Given the description of an element on the screen output the (x, y) to click on. 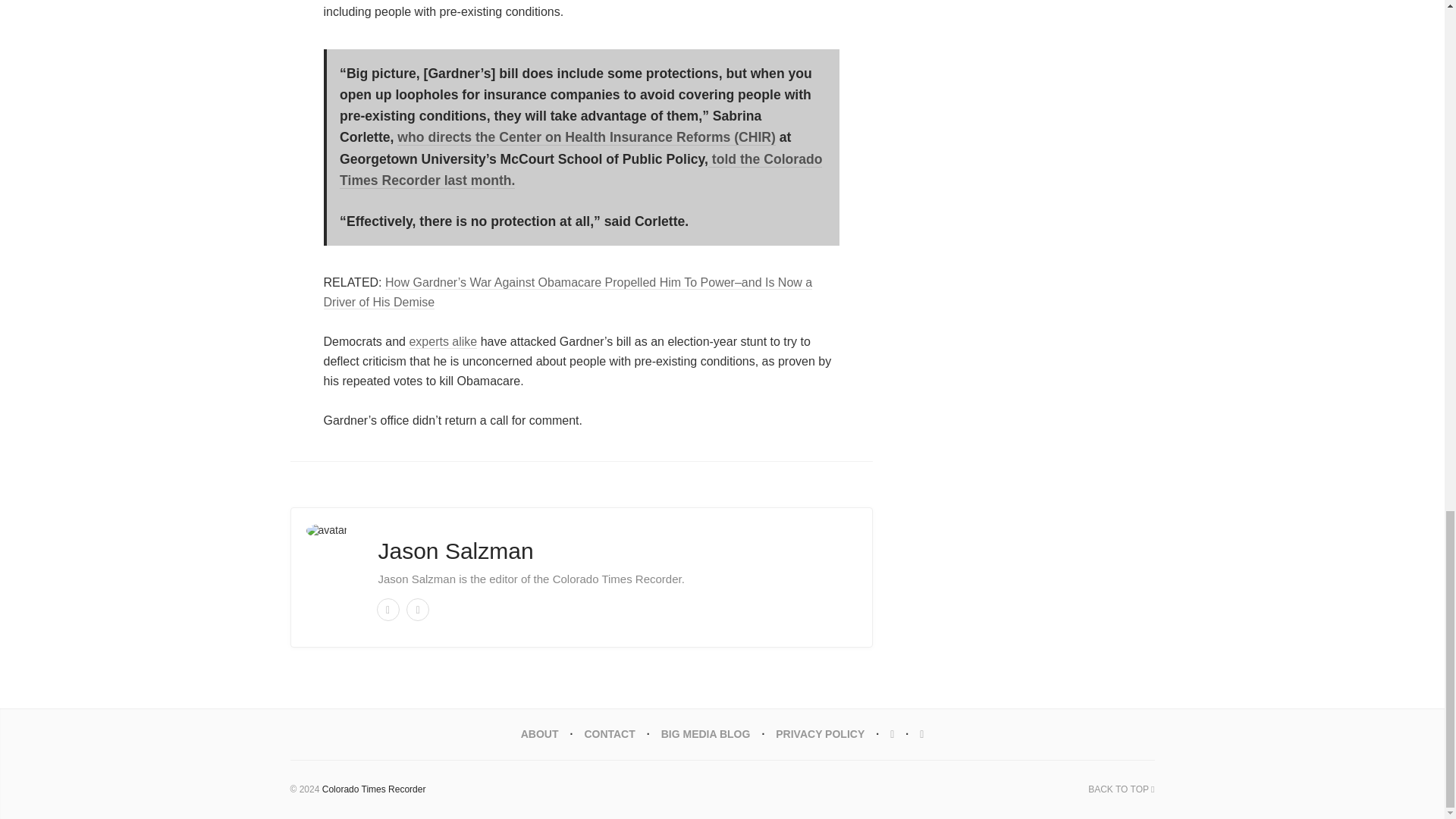
Jason Salzman (454, 550)
experts alike (443, 341)
told the Colorado Times Recorder last month. (580, 170)
Email (386, 609)
BACK TO TOP  (1120, 789)
